Given the description of an element on the screen output the (x, y) to click on. 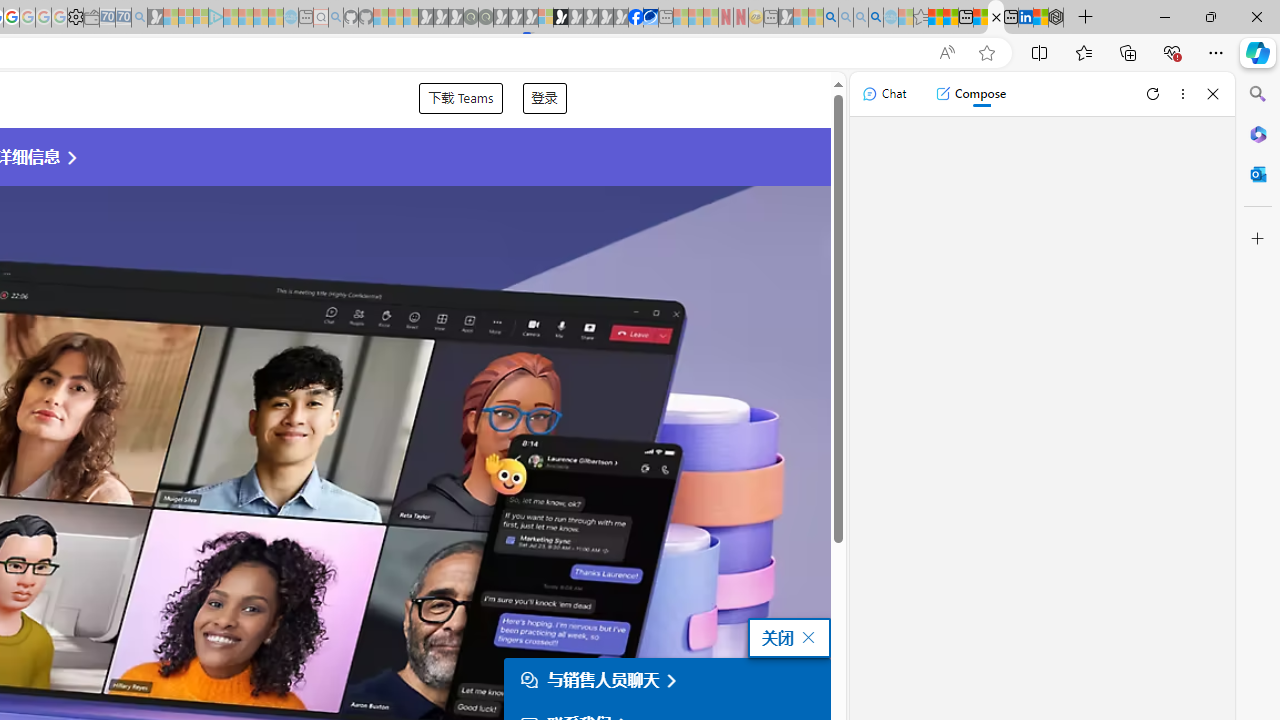
Nordace | Facebook (635, 17)
